Given the description of an element on the screen output the (x, y) to click on. 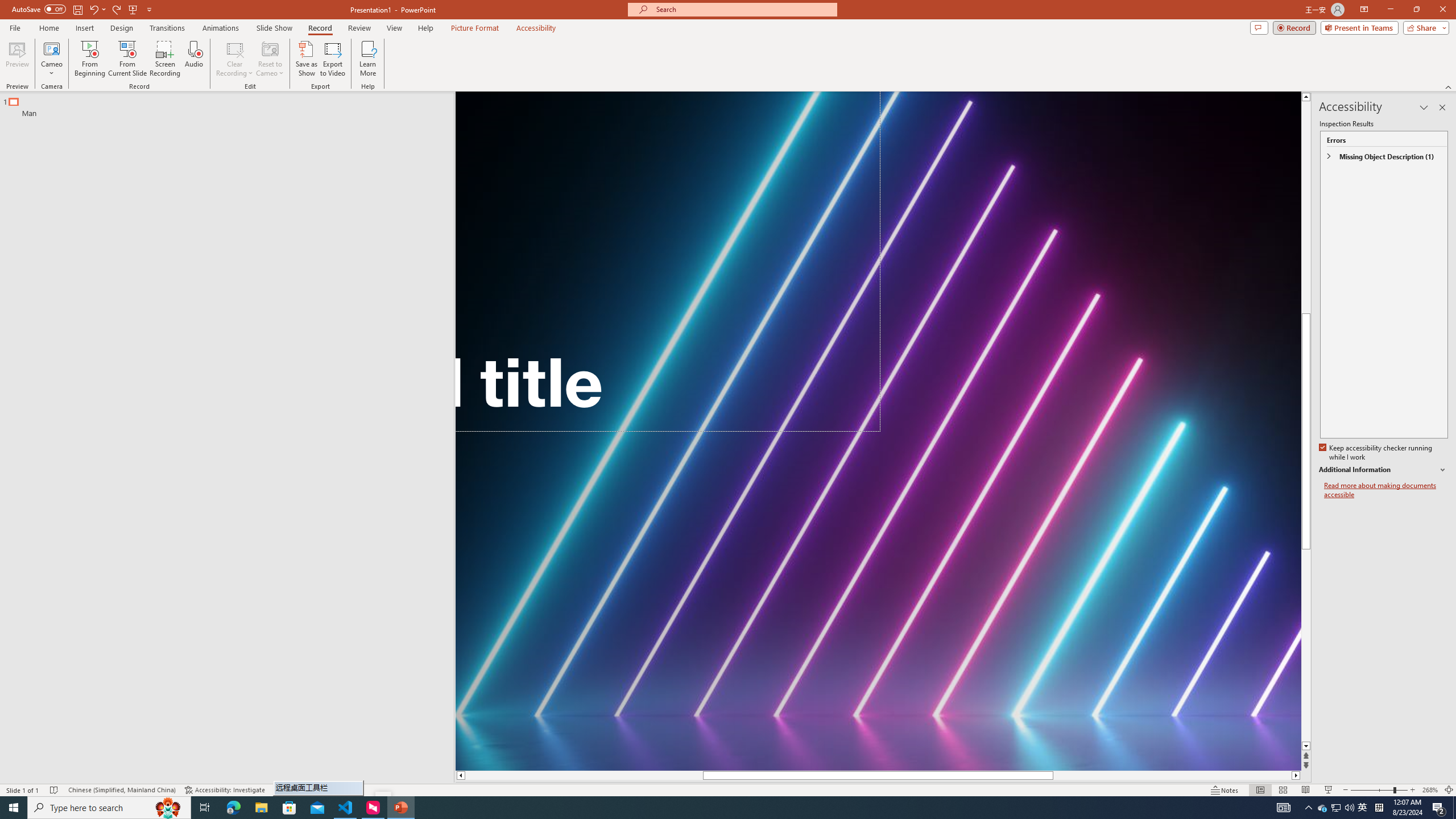
Picture Format (475, 28)
Zoom 268% (1430, 790)
